Given the description of an element on the screen output the (x, y) to click on. 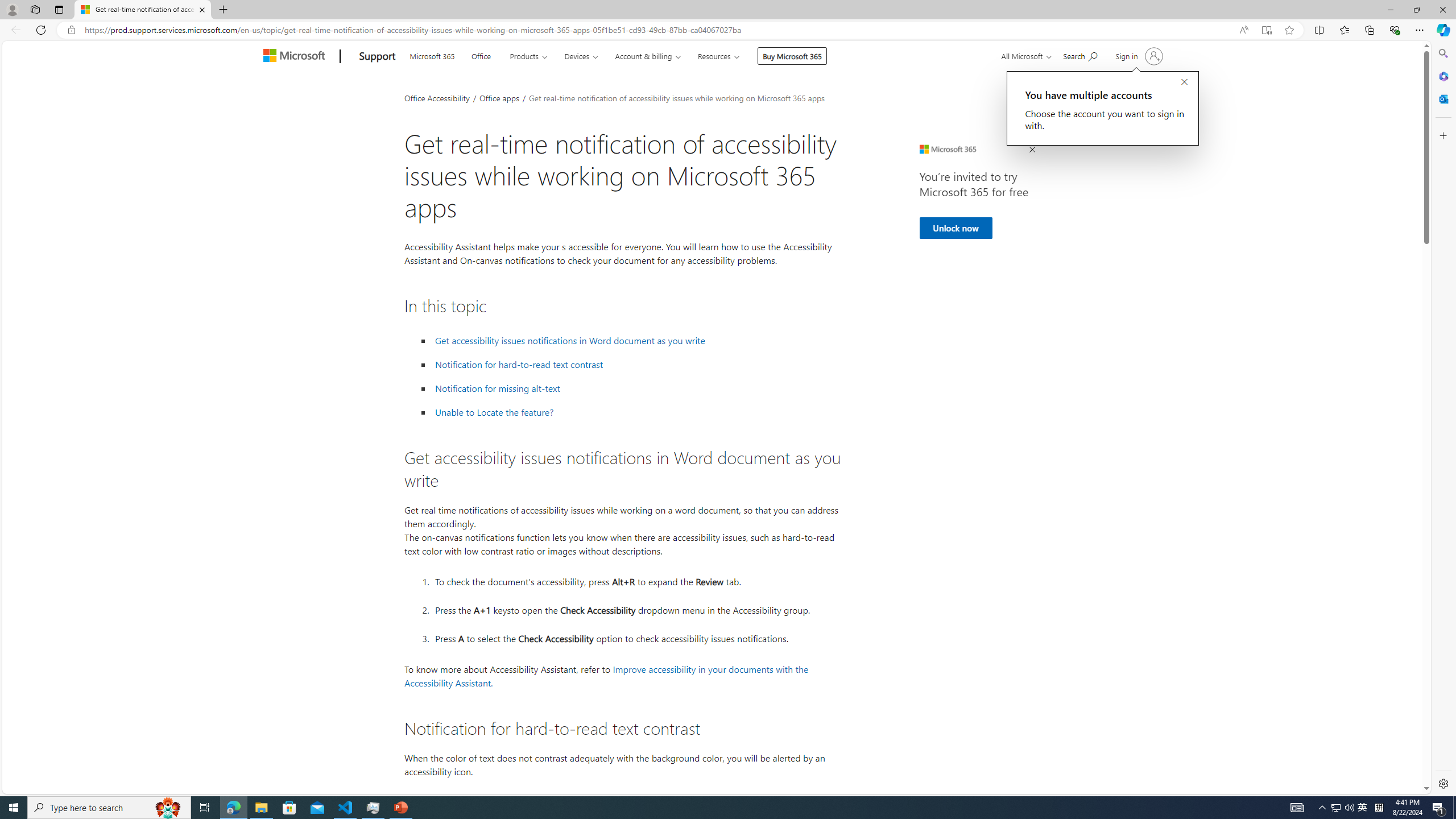
Refresh (40, 29)
Office Accessibility (437, 97)
App bar (728, 29)
Microsoft 365 (1442, 76)
Buy Microsoft 365 (792, 55)
Unlock now (955, 228)
Office apps  (500, 97)
Close callout prompt. (1184, 82)
Add this page to favorites (Ctrl+D) (1289, 29)
Read aloud this page (Ctrl+Shift+U) (1243, 29)
Enter Immersive Reader (F9) (1266, 29)
